Given the description of an element on the screen output the (x, y) to click on. 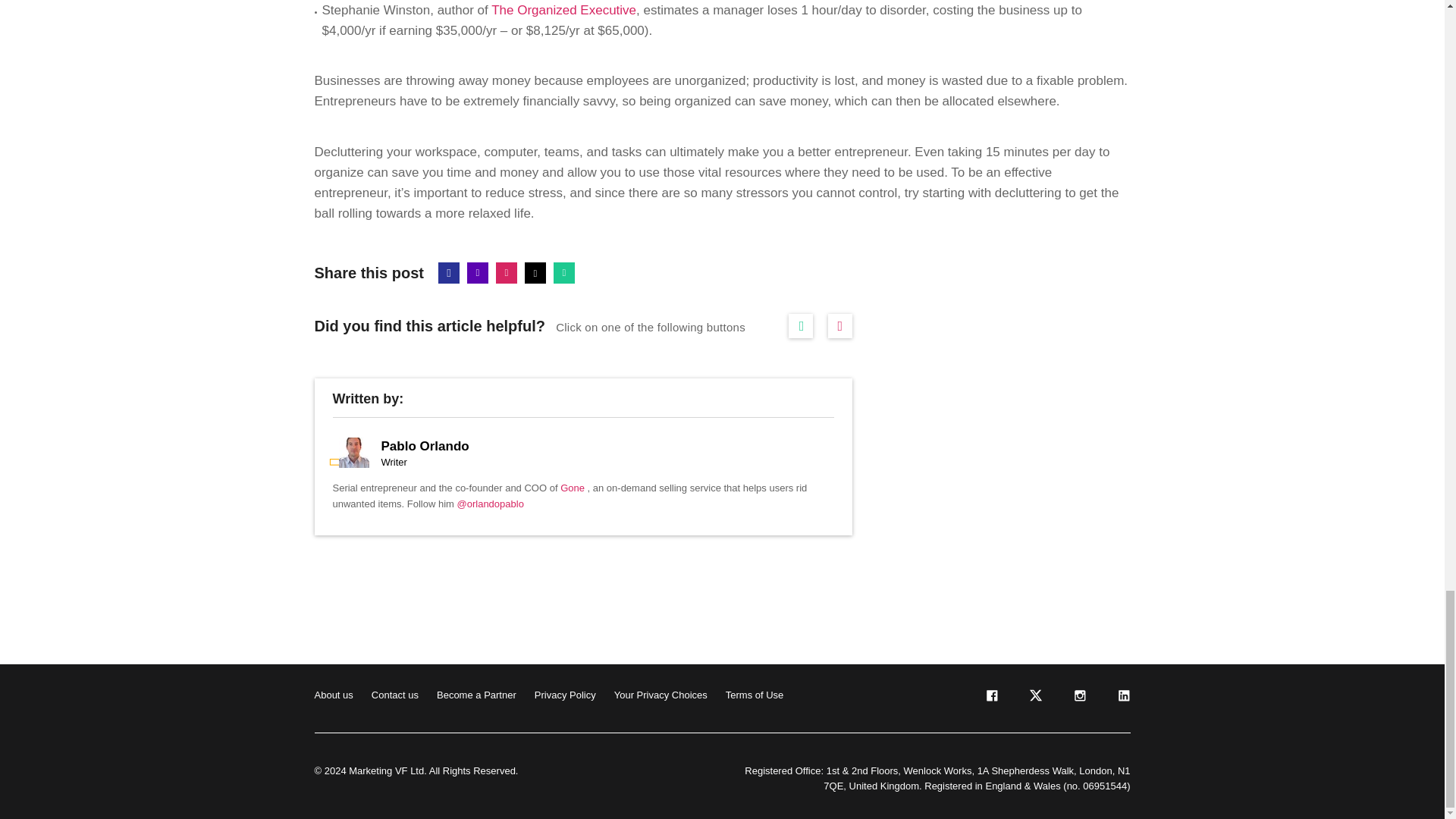
Facebook (449, 272)
Linkedin (477, 272)
twitter-x (1034, 698)
facebook (990, 698)
instagram (1078, 698)
Twitter-x (535, 272)
linkedin (1122, 698)
Whatsapp (564, 272)
Flipboard (506, 272)
